Given the description of an element on the screen output the (x, y) to click on. 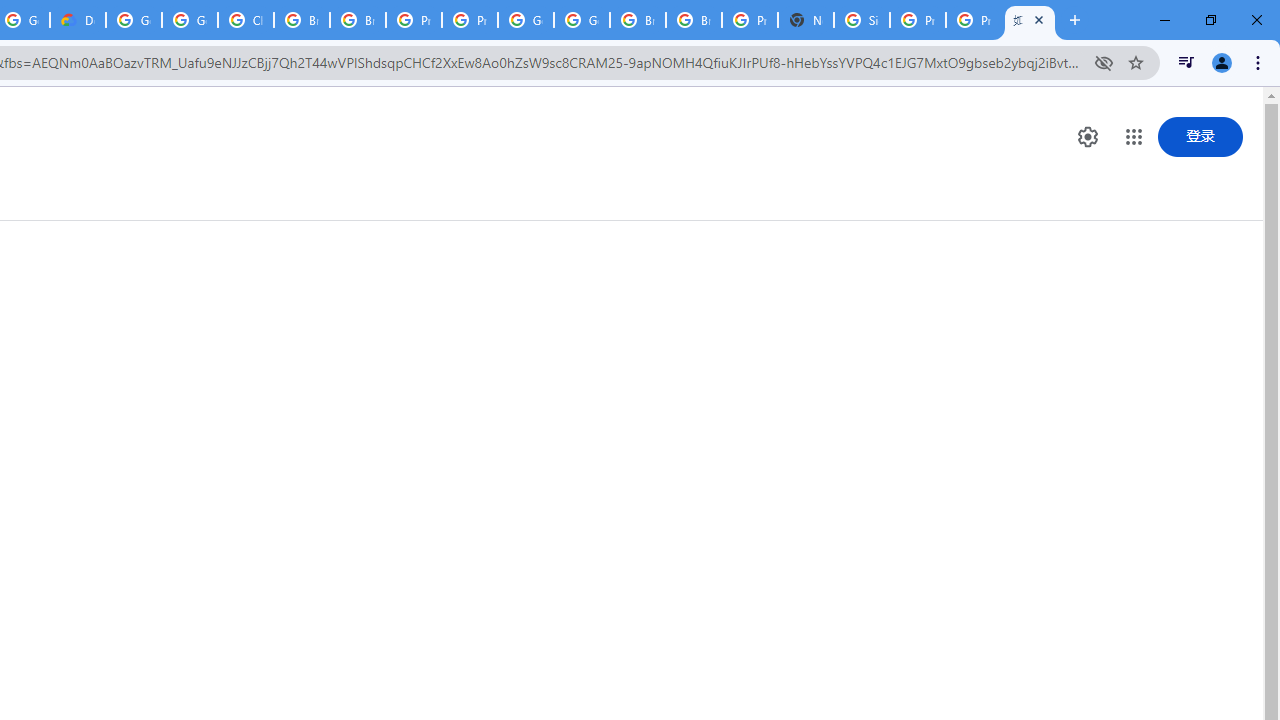
Browse Chrome as a guest - Computer - Google Chrome Help (301, 20)
Google Cloud Platform (134, 20)
New Tab (806, 20)
